Given the description of an element on the screen output the (x, y) to click on. 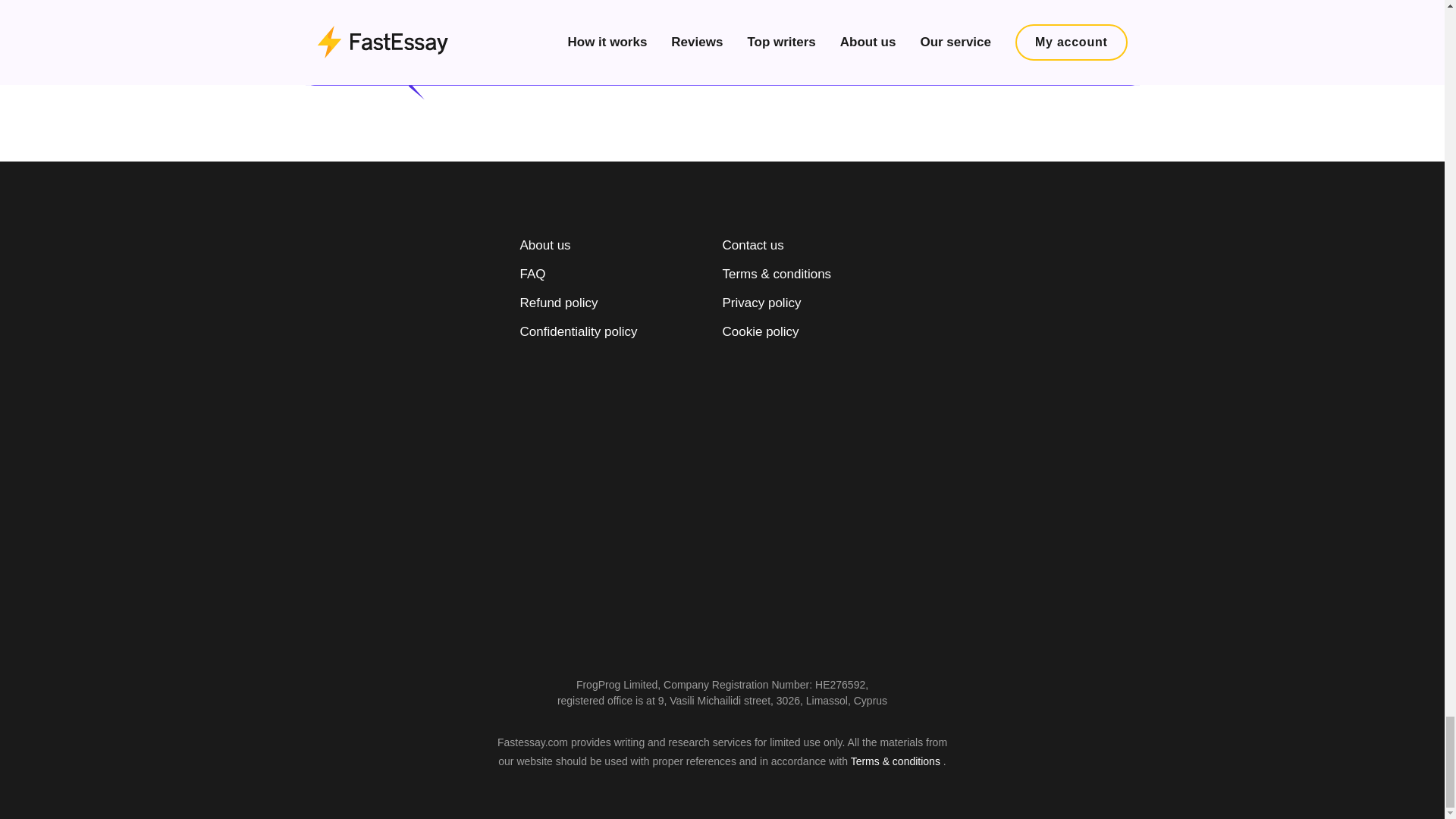
Visa, Mastercard (1025, 335)
